Given the description of an element on the screen output the (x, y) to click on. 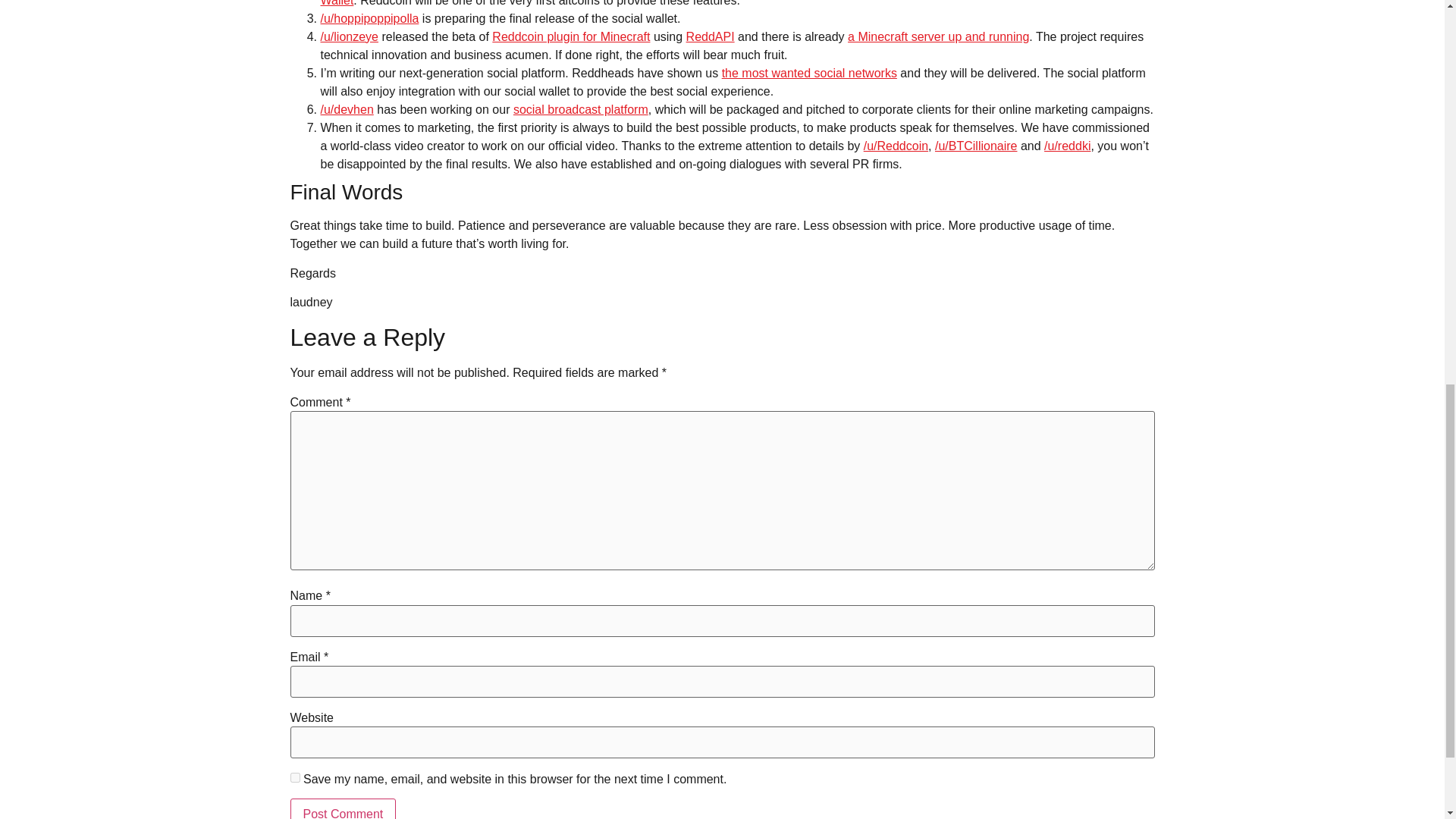
social broadcast platform (580, 109)
yes (294, 777)
ReddAPI (710, 36)
a Minecraft server up and running (938, 36)
the most wanted social networks (809, 72)
Reddcoin plugin for Minecraft (570, 36)
Post Comment (342, 808)
